Given the description of an element on the screen output the (x, y) to click on. 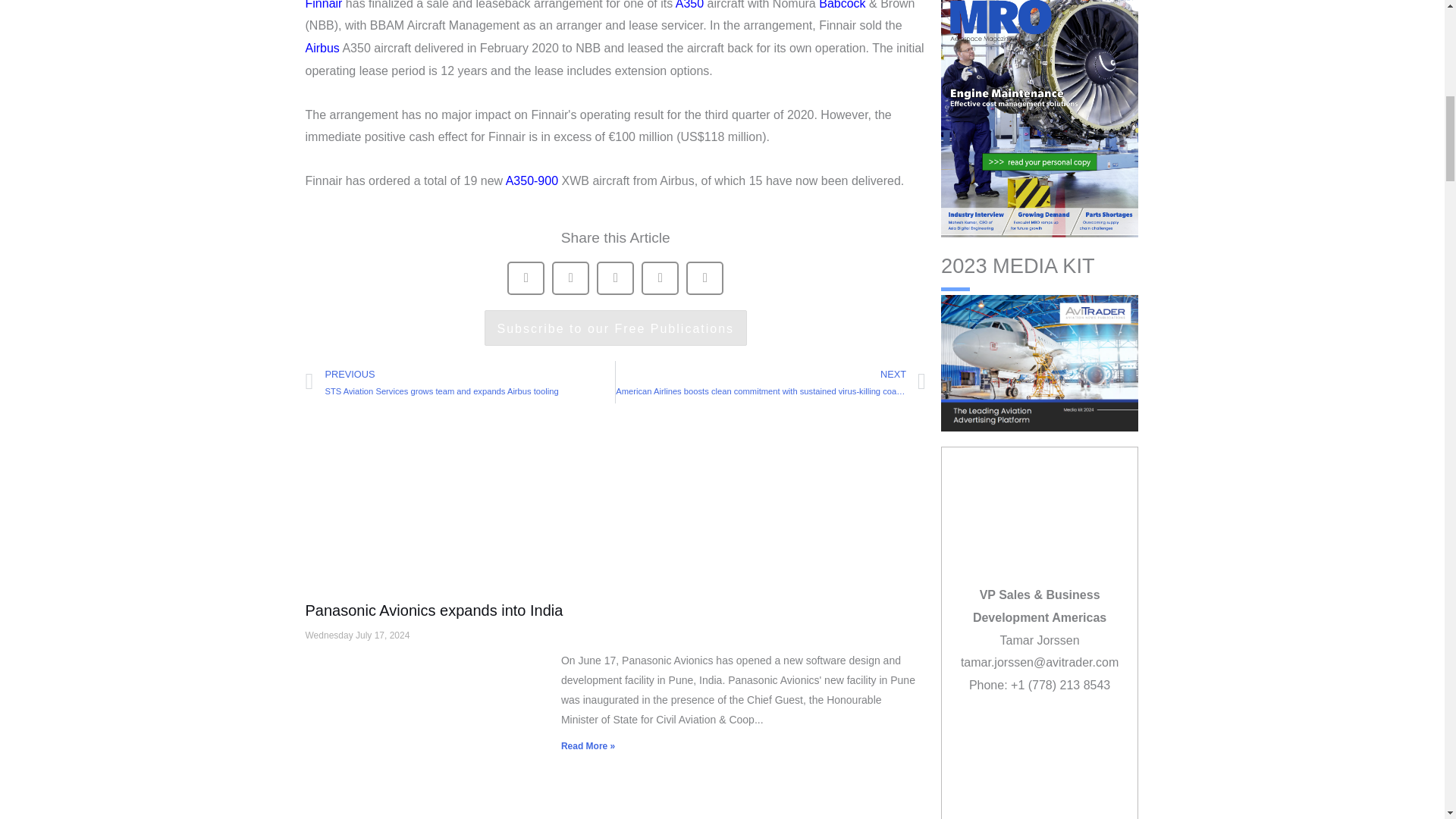
Posts tagged with A350-900 (531, 180)
Posts tagged with Finnair (323, 4)
Posts tagged with Babcock (841, 4)
Posts tagged with Airbus (321, 47)
Posts tagged with A350 (689, 4)
